Given the description of an element on the screen output the (x, y) to click on. 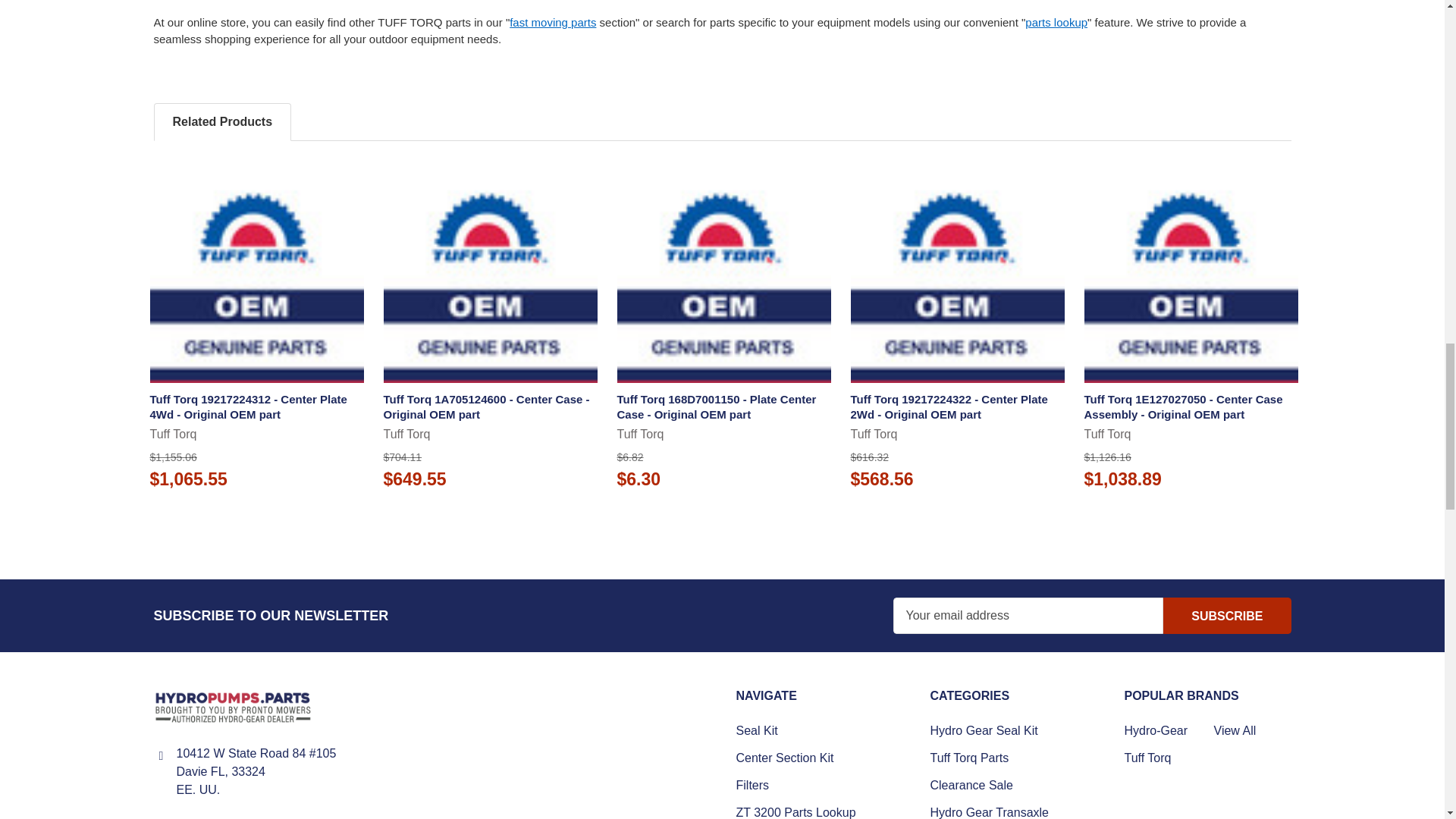
Tuff Torq Center Plate 2Wd 19217224322 - Image 1 (957, 275)
Tuff Torq Plate Center Case 168D7001150 - Image 1 (724, 275)
Tuff Torq Center Plate 4Wd 19217224312 - Image 1 (256, 275)
HYDRO PUMPS PARTS (232, 707)
Tuff Torq Center Case 1A705124600 - Image 1 (490, 275)
Tuff Torq Center Case Assembly 1E127027050 - Image 1 (1191, 275)
Subscribe (1226, 615)
